Given the description of an element on the screen output the (x, y) to click on. 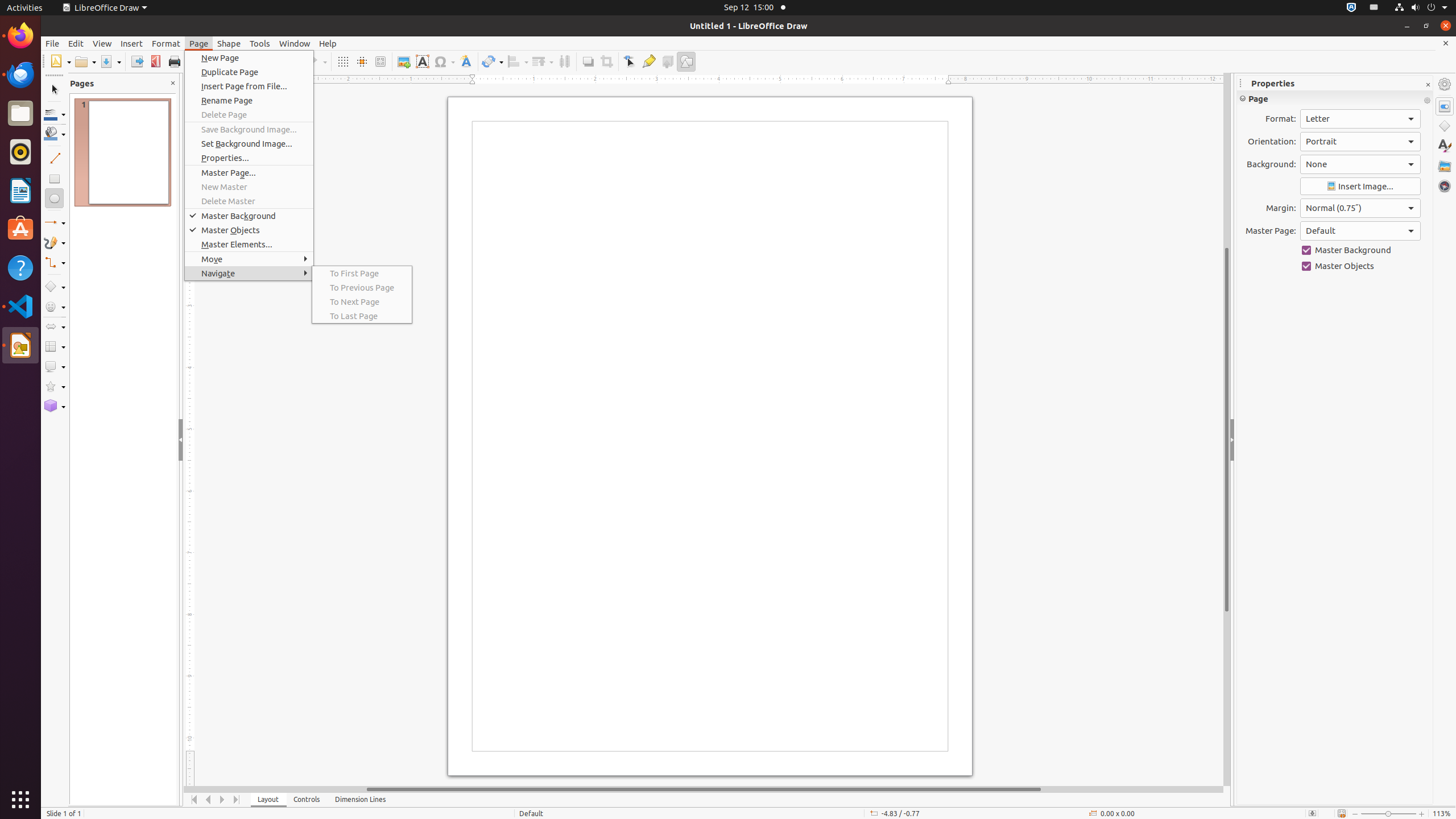
Arrange Element type: push-button (542, 61)
Close Sidebar Deck Element type: push-button (1427, 84)
Image Element type: push-button (403, 61)
Rhythmbox Element type: push-button (20, 151)
